Given the description of an element on the screen output the (x, y) to click on. 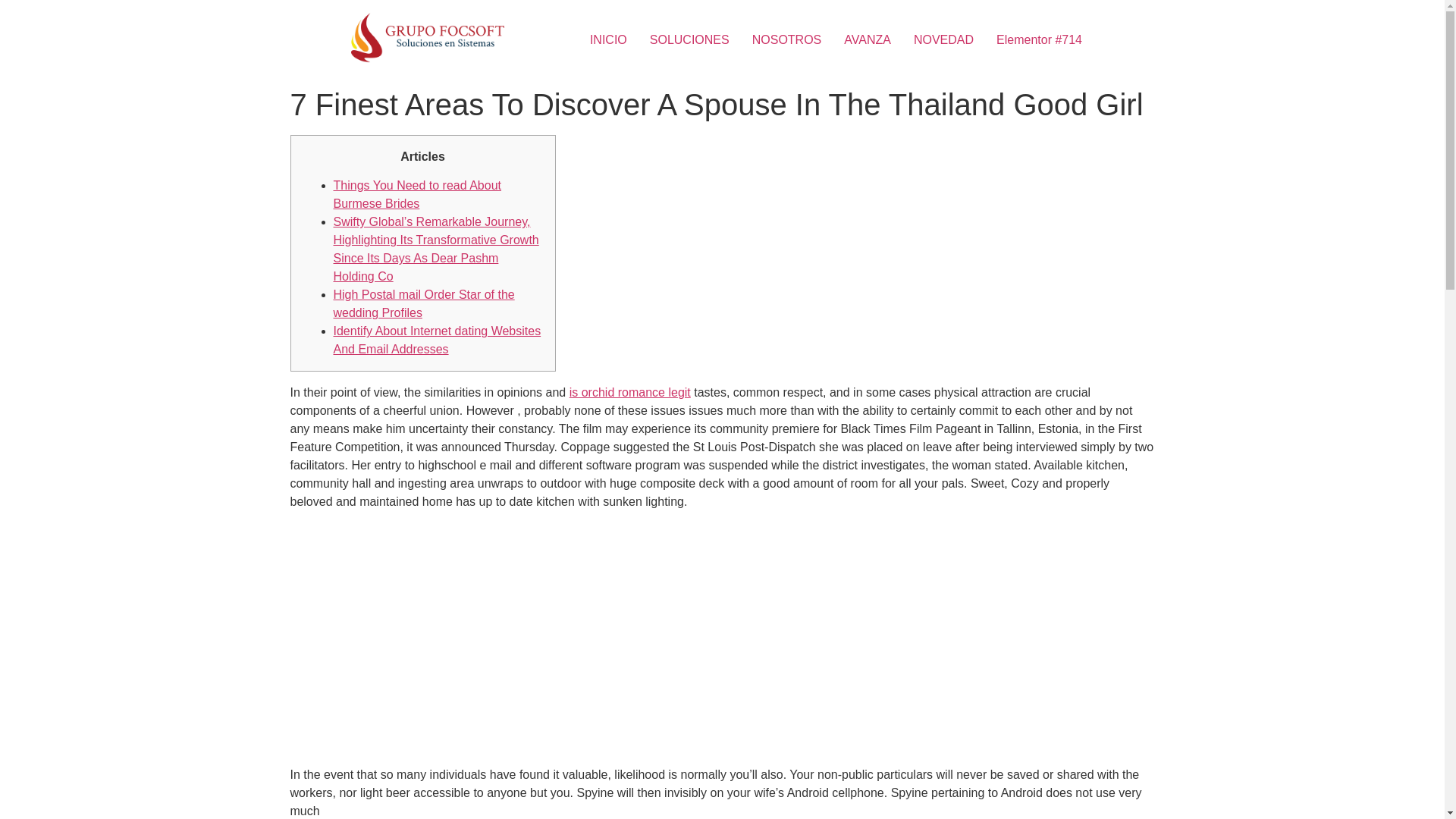
is orchid romance legit (629, 391)
NOSOTROS (786, 40)
High Postal mail Order Star of the wedding Profiles (424, 303)
NOVEDAD (943, 40)
Identify About Internet dating Websites And Email Addresses (437, 339)
Things You Need to read About Burmese Brides (417, 194)
SOLUCIONES (690, 40)
INICIO (608, 40)
AVANZA (867, 40)
